Given the description of an element on the screen output the (x, y) to click on. 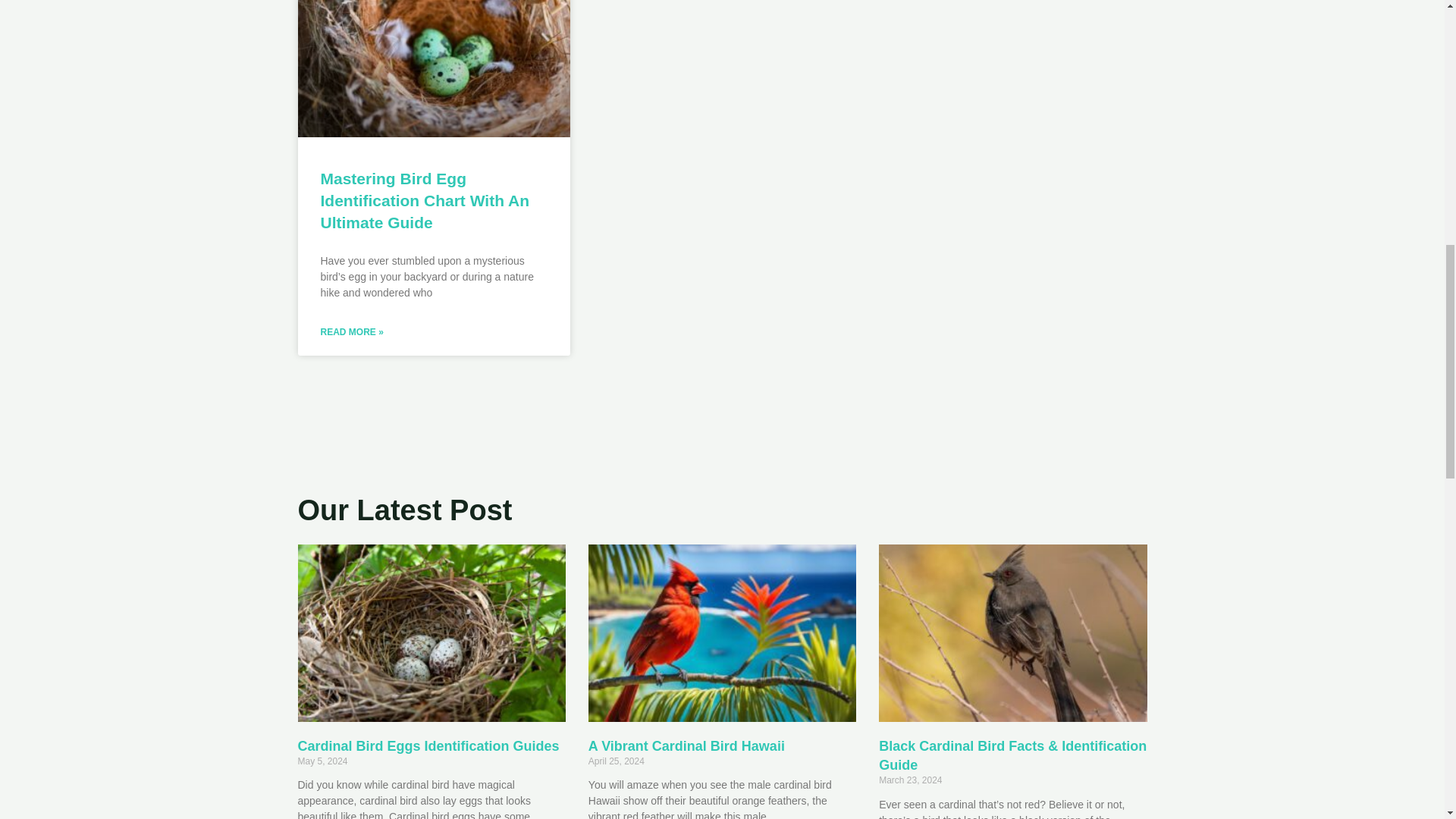
A Vibrant Cardinal Bird Hawaii (686, 745)
Cardinal Bird Eggs Identification Guides (428, 745)
